Given the description of an element on the screen output the (x, y) to click on. 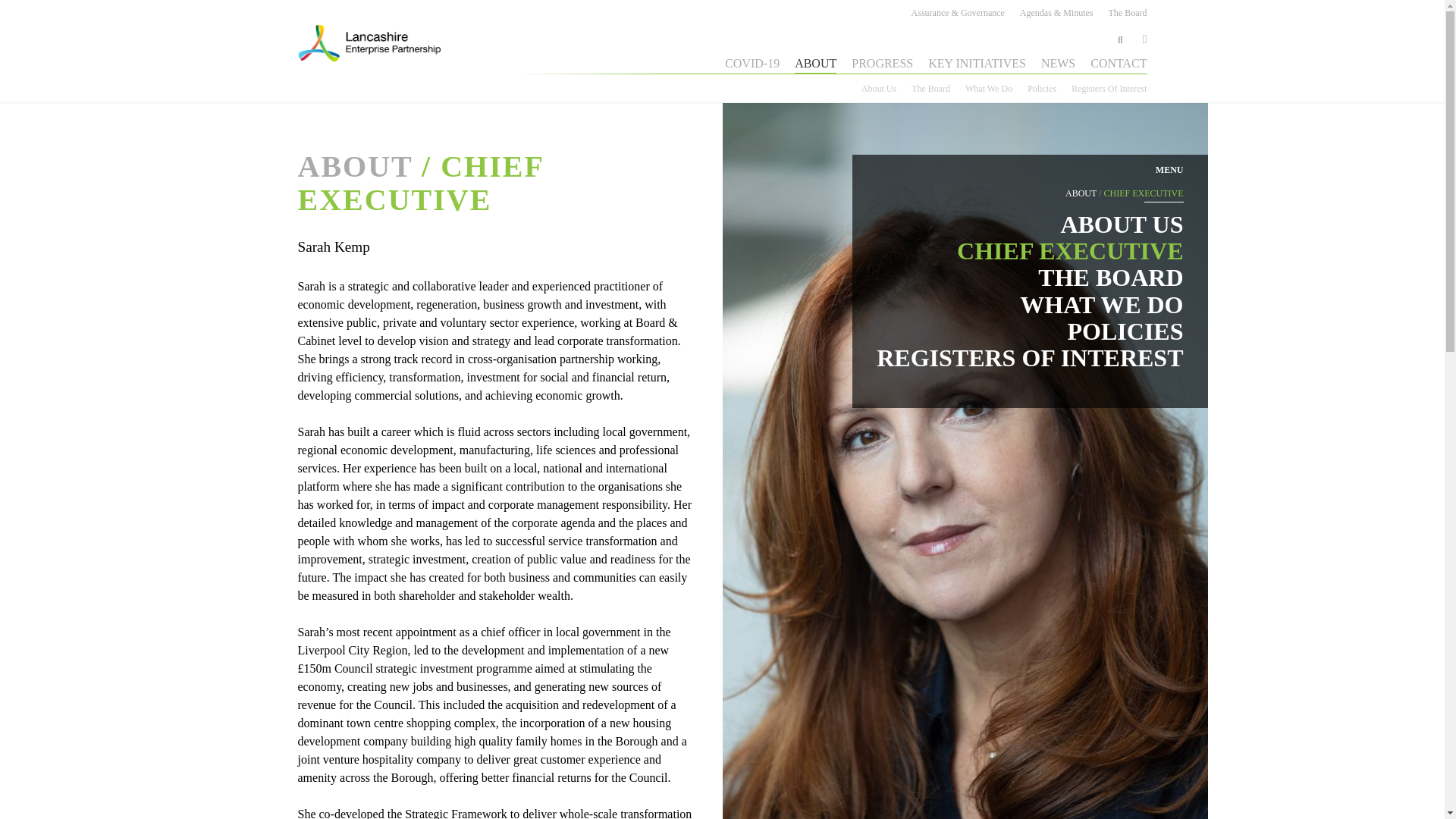
What We Do (988, 88)
ABOUT (814, 64)
CHIEF EXECUTIVE (1069, 250)
WHAT WE DO (1101, 304)
ABOUT US (1120, 224)
POLICIES (1125, 330)
THE BOARD (1110, 277)
REGISTERS OF INTEREST (1029, 357)
KEY INITIATIVES (977, 64)
About (354, 166)
